Given the description of an element on the screen output the (x, y) to click on. 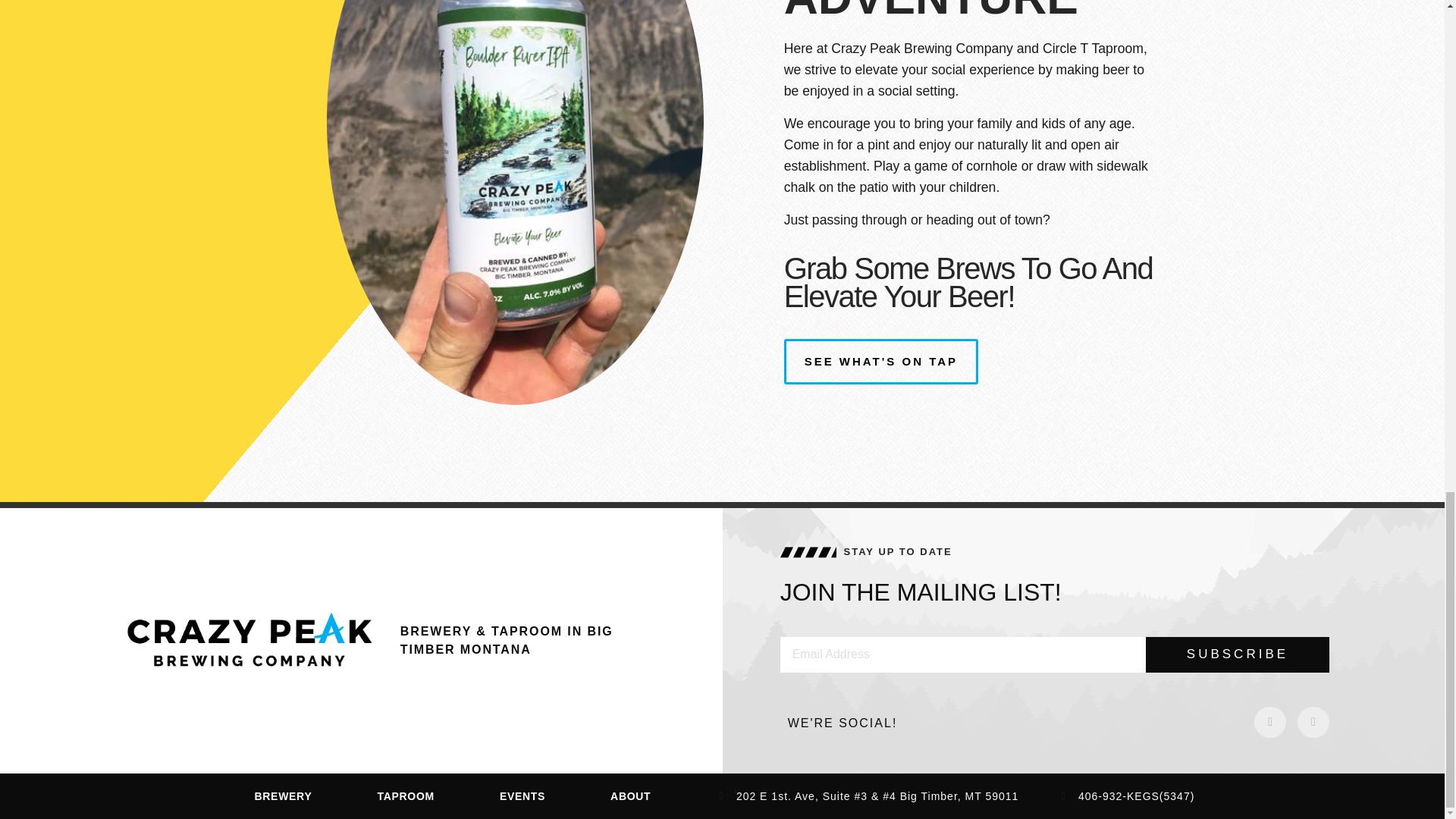
BREWERY (283, 796)
ABOUT (630, 796)
SEE WHAT'S ON TAP (881, 361)
SUBSCRIBE (1236, 654)
EVENTS (522, 796)
TAPROOM (405, 796)
